Given the description of an element on the screen output the (x, y) to click on. 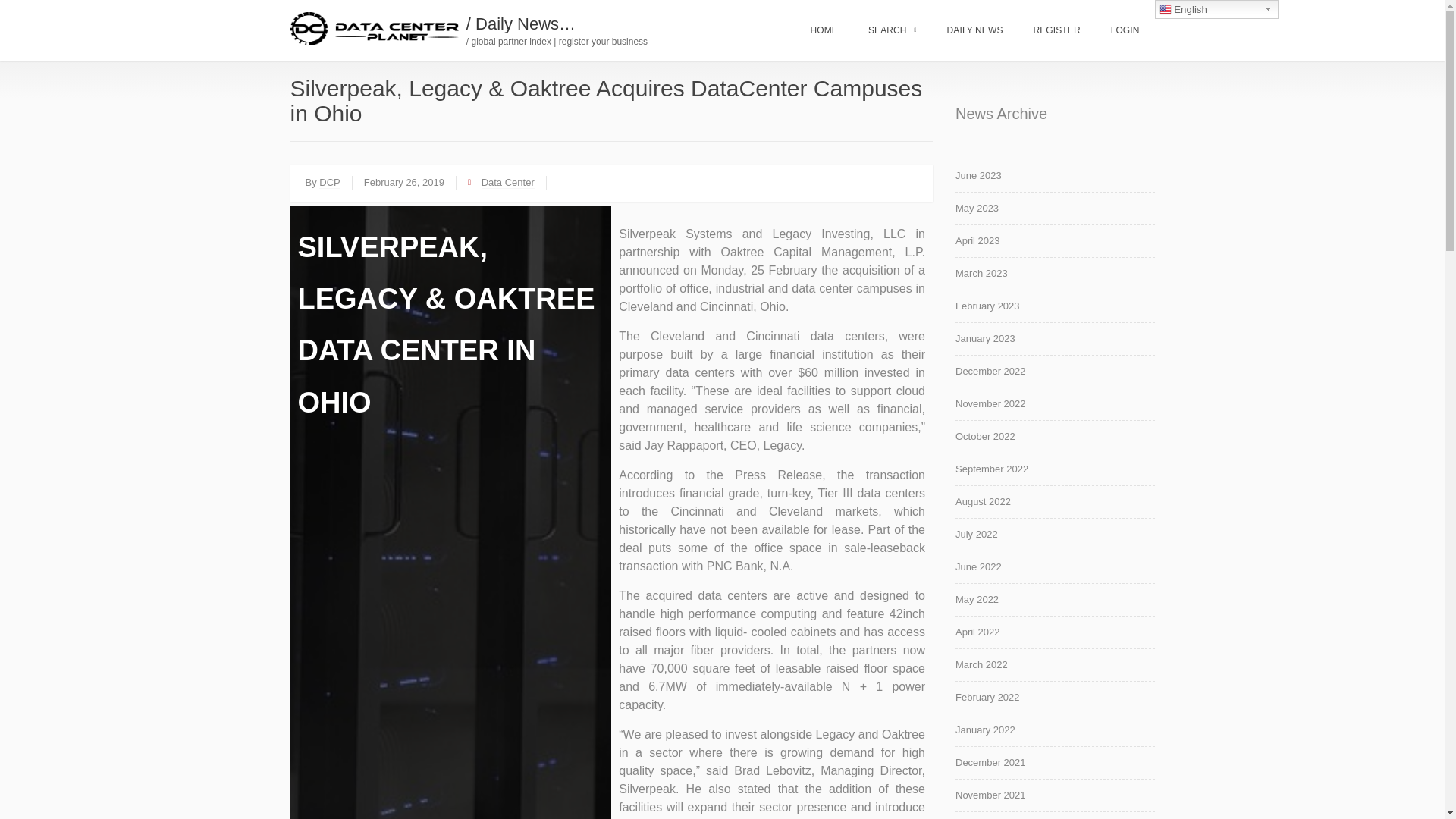
May 2023 (1054, 212)
Posts by DCP (328, 182)
SEARCH (892, 30)
February 2023 (1054, 309)
January 2023 (1054, 342)
DAILY NEWS (974, 30)
HOME (823, 30)
English (1216, 9)
June 2023 (1054, 179)
April 2023 (1054, 243)
REGISTER (1055, 30)
Data Center (507, 182)
March 2023 (1054, 276)
DCP (328, 182)
LOGIN (1125, 30)
